Given the description of an element on the screen output the (x, y) to click on. 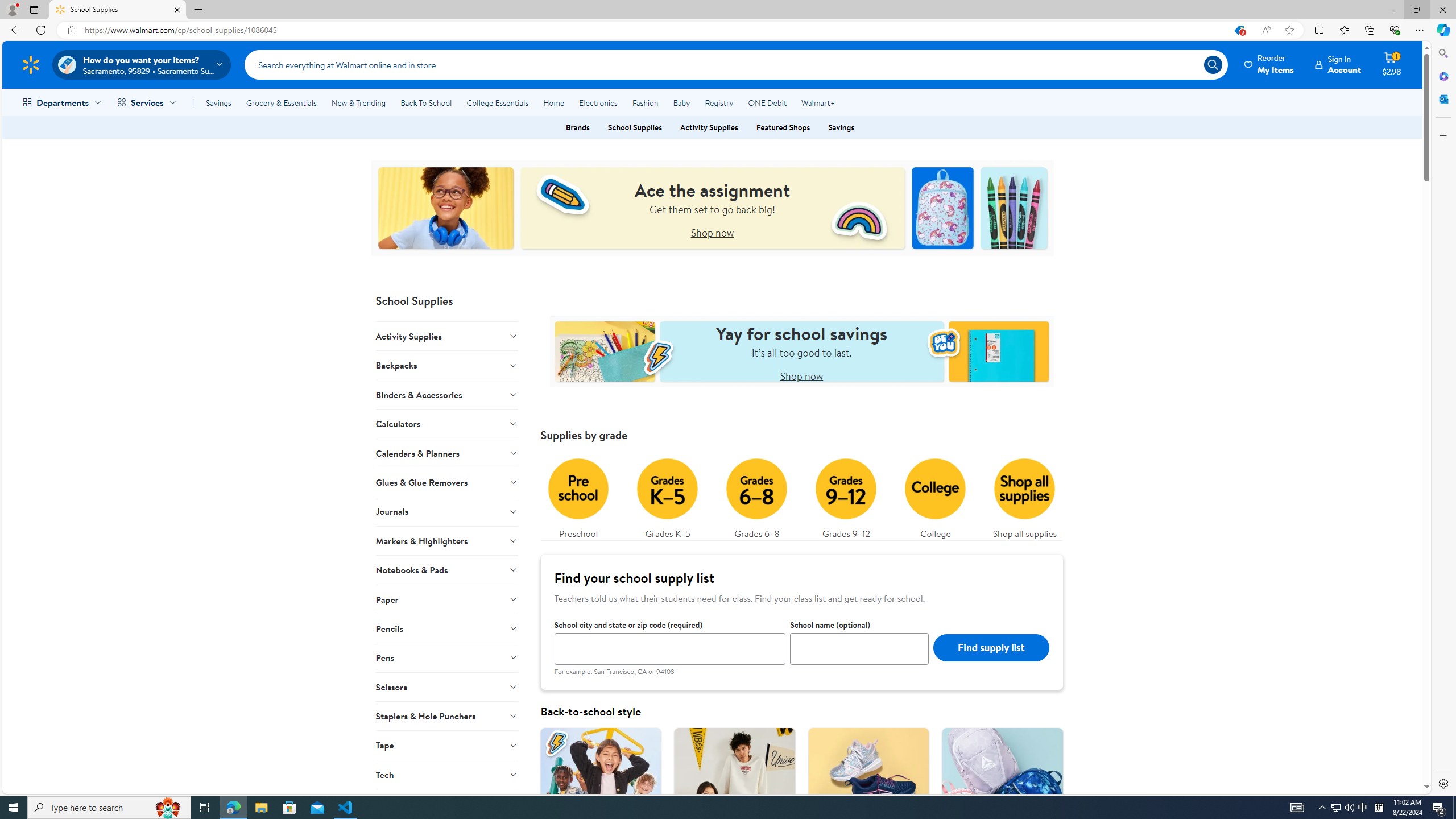
Registry (718, 102)
Search icon (1212, 64)
Shop all supplies (1024, 495)
Backpacks (446, 365)
